Given the description of an element on the screen output the (x, y) to click on. 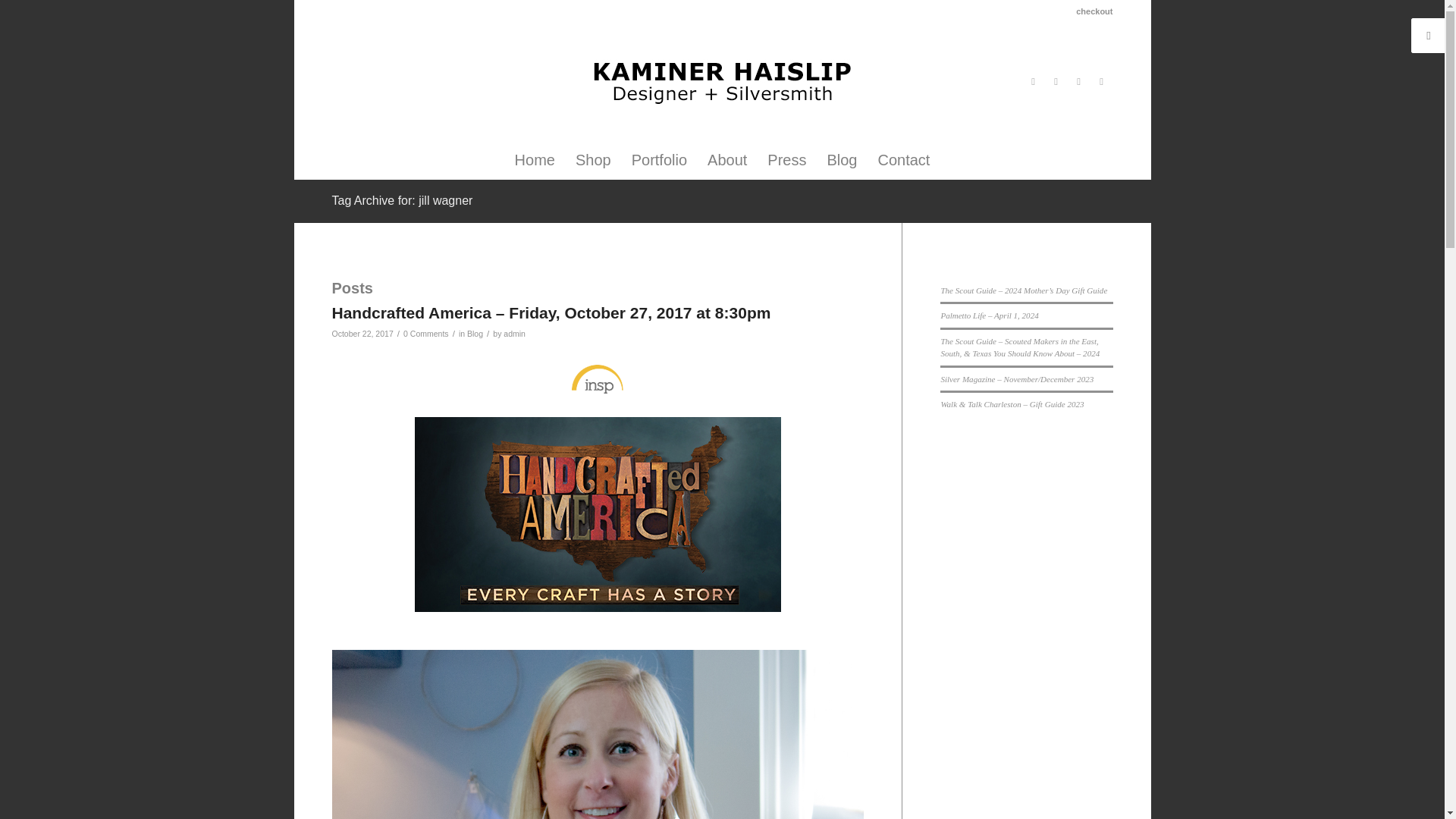
Portfolio (659, 159)
Home (534, 159)
Permanent Link: Tag Archive for: jill wagner (402, 200)
Tag Archive for: jill wagner (402, 200)
Shop (592, 159)
About (727, 159)
Posts by admin (514, 333)
Press (786, 159)
